Given the description of an element on the screen output the (x, y) to click on. 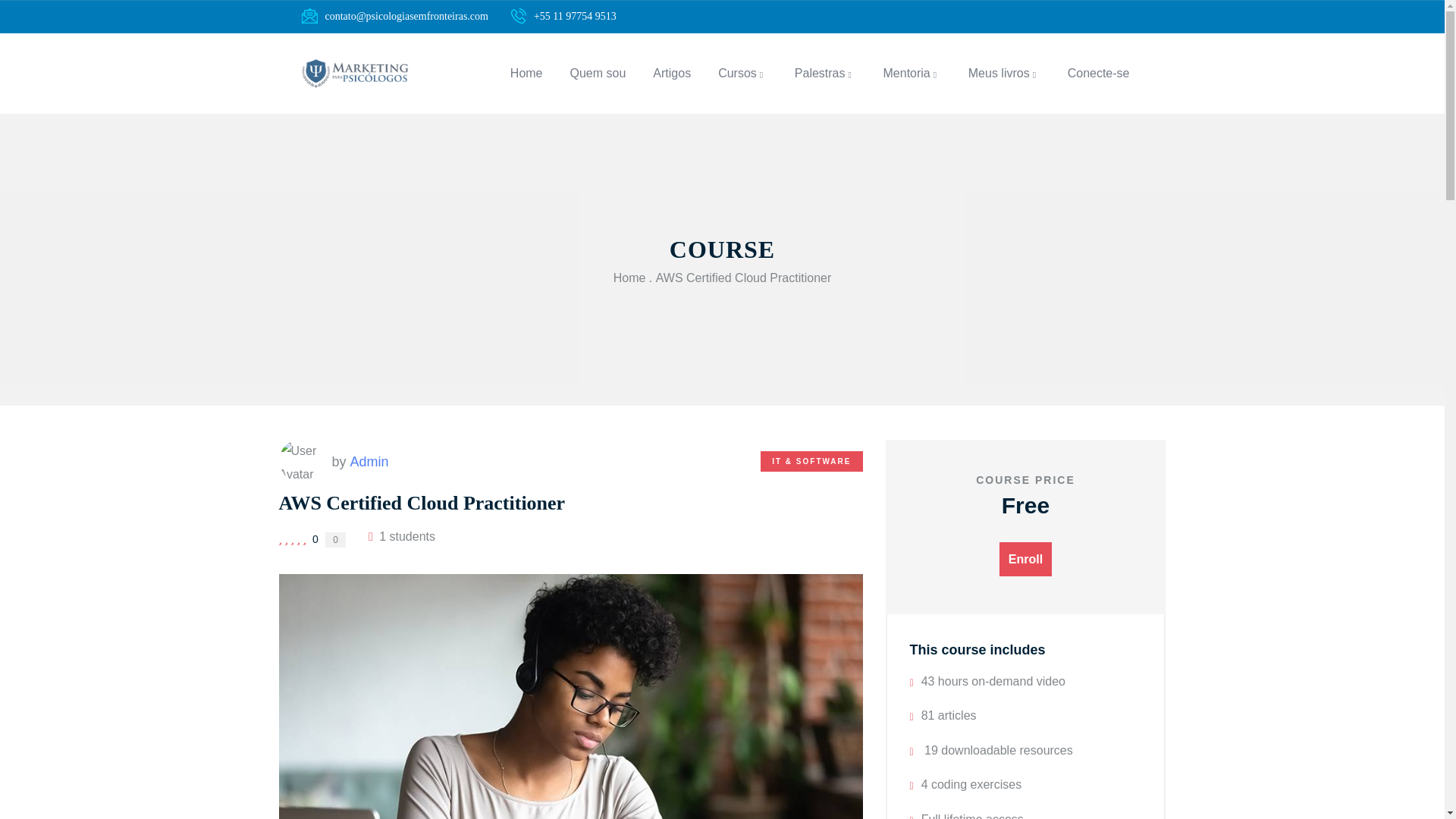
Cursos (742, 73)
Palestras (824, 73)
Mentoria (912, 73)
Quem sou (598, 73)
Home (355, 73)
One student enrolled (401, 536)
